Given the description of an element on the screen output the (x, y) to click on. 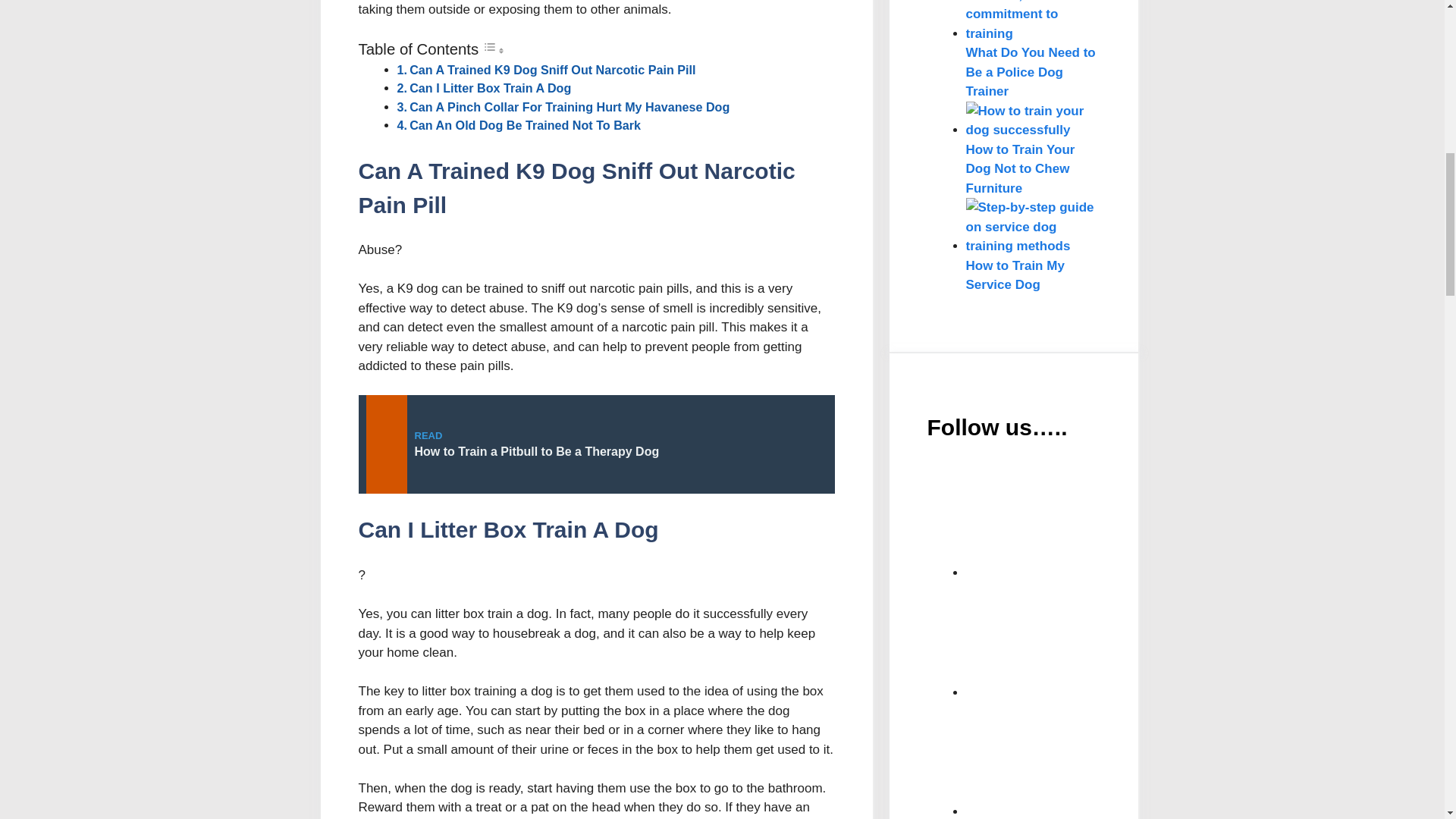
Can A Trained K9 Dog Sniff Out Narcotic Pain Pill (552, 69)
Can I Litter Box Train A Dog (489, 88)
Can A Pinch Collar For Training Hurt My Havanese Dog (569, 106)
Email (1079, 520)
Facebook (1079, 639)
Can A Trained K9 Dog Sniff Out Narcotic Pain Pill (552, 69)
Can An Old Dog Be Trained Not To Bark (524, 124)
Pinterest (1079, 758)
